Given the description of an element on the screen output the (x, y) to click on. 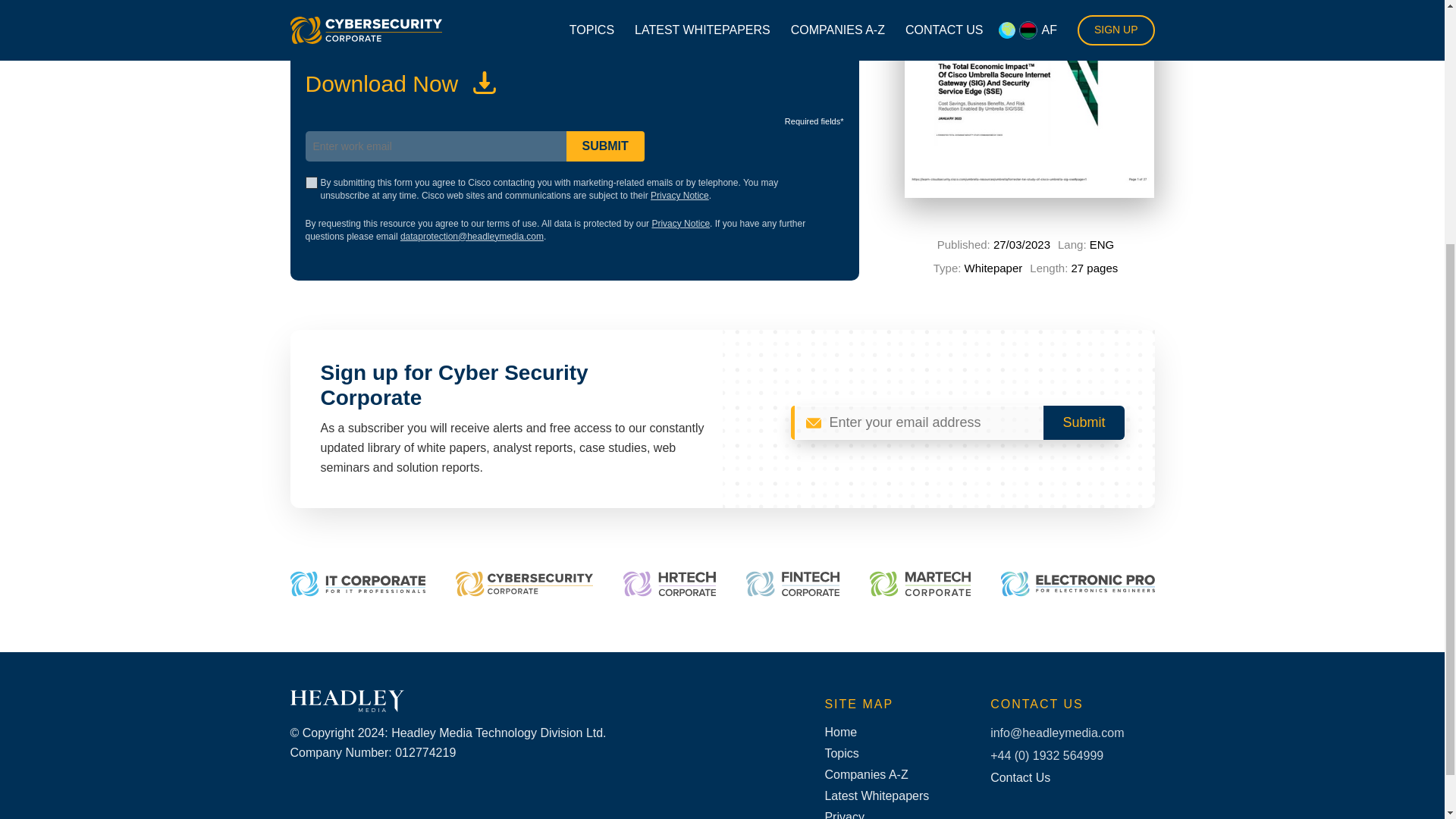
SUBMIT (604, 146)
Submit (1083, 422)
Privacy Notice (679, 195)
Companies A-Z (877, 775)
Privacy Notice (680, 223)
Home (877, 732)
Submit (1083, 422)
Topics (877, 753)
Latest Whitepapers (877, 796)
